Given the description of an element on the screen output the (x, y) to click on. 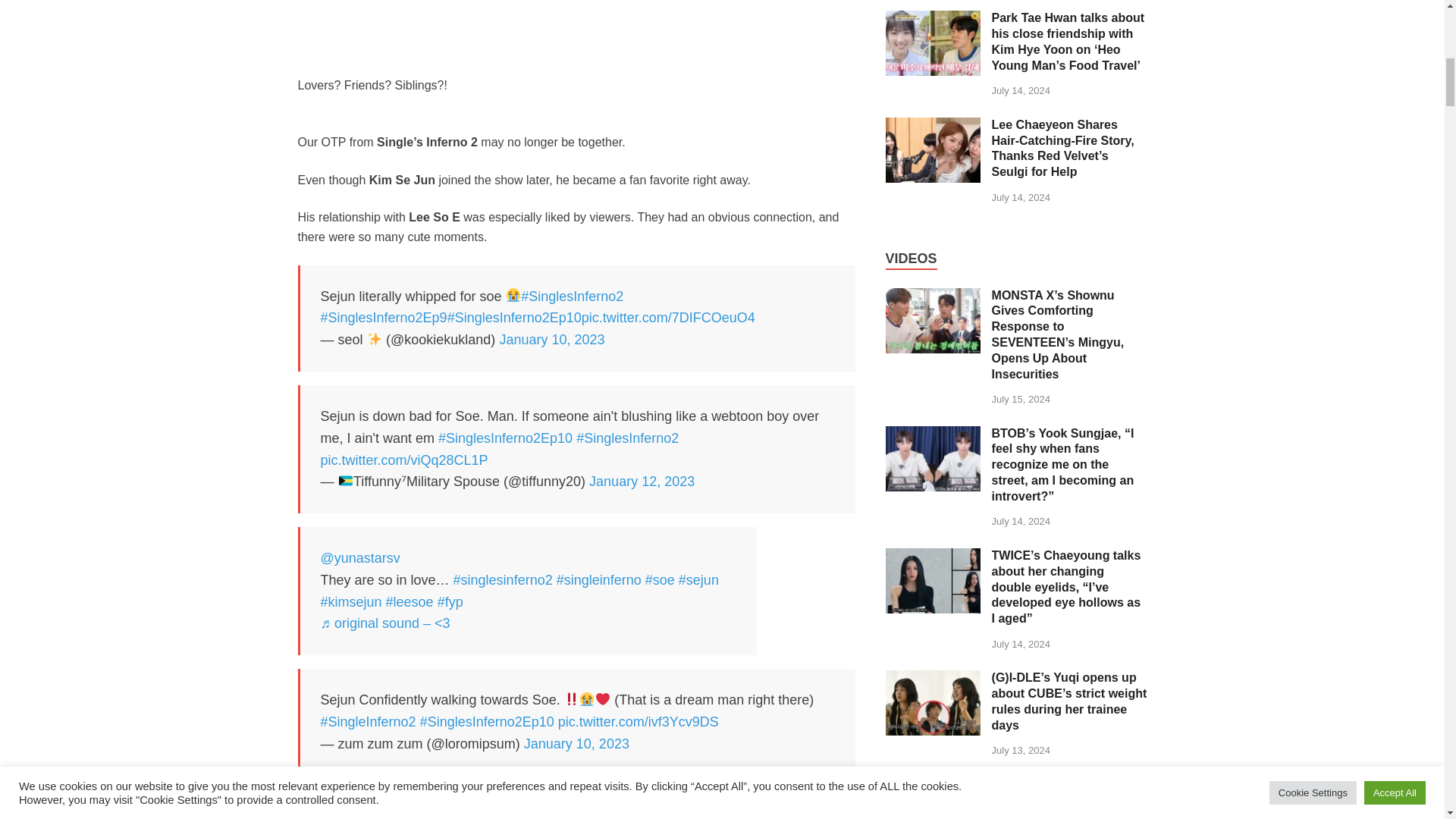
singlesinferno2 (502, 580)
January 12, 2023 (641, 481)
soe (660, 580)
January 10, 2023 (551, 339)
leesoe (409, 601)
sejun (698, 580)
singleinferno (599, 580)
fyp (450, 601)
kimsejun (350, 601)
